Given the description of an element on the screen output the (x, y) to click on. 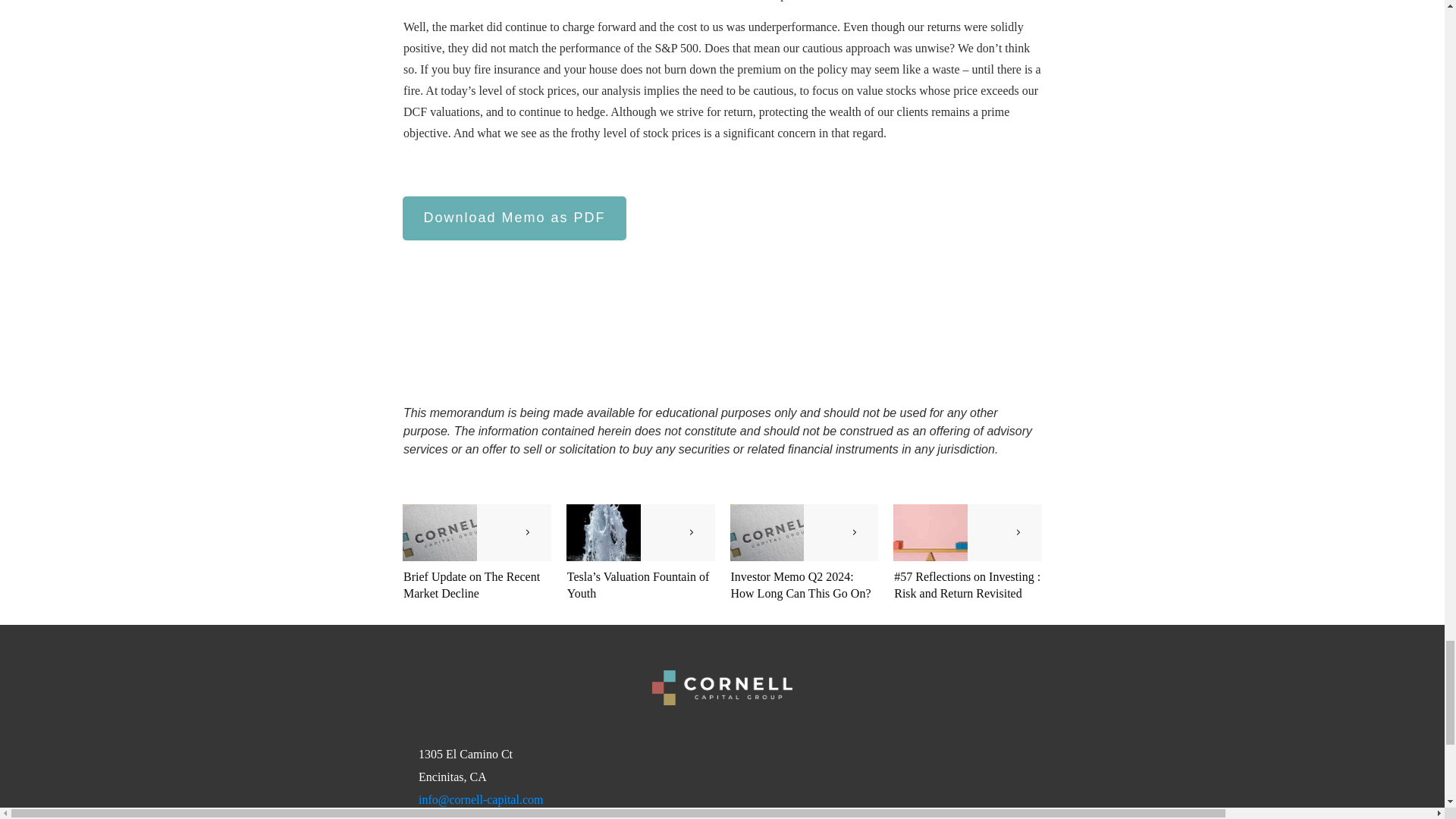
Download Memo as PDF (514, 218)
Investor Memo Q2 2024: How Long Can This Go On? (800, 584)
Brief Update on The Recent Market Decline (471, 584)
Investor Memo Q2 2024: How Long Can This Go On? (800, 584)
Brief Update on The Recent Market Decline (471, 584)
